Given the description of an element on the screen output the (x, y) to click on. 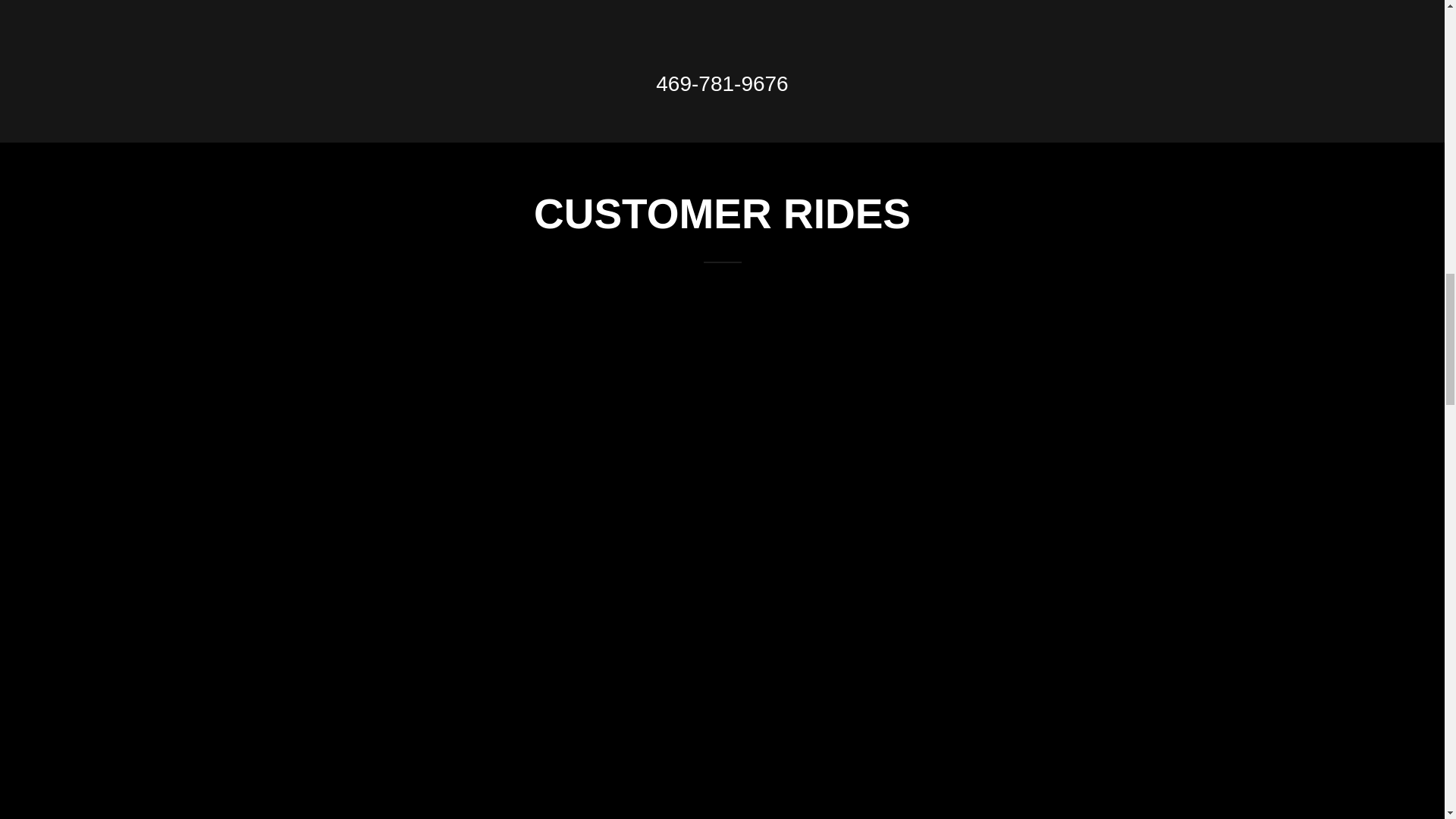
469-781-9676 (721, 83)
